Given the description of an element on the screen output the (x, y) to click on. 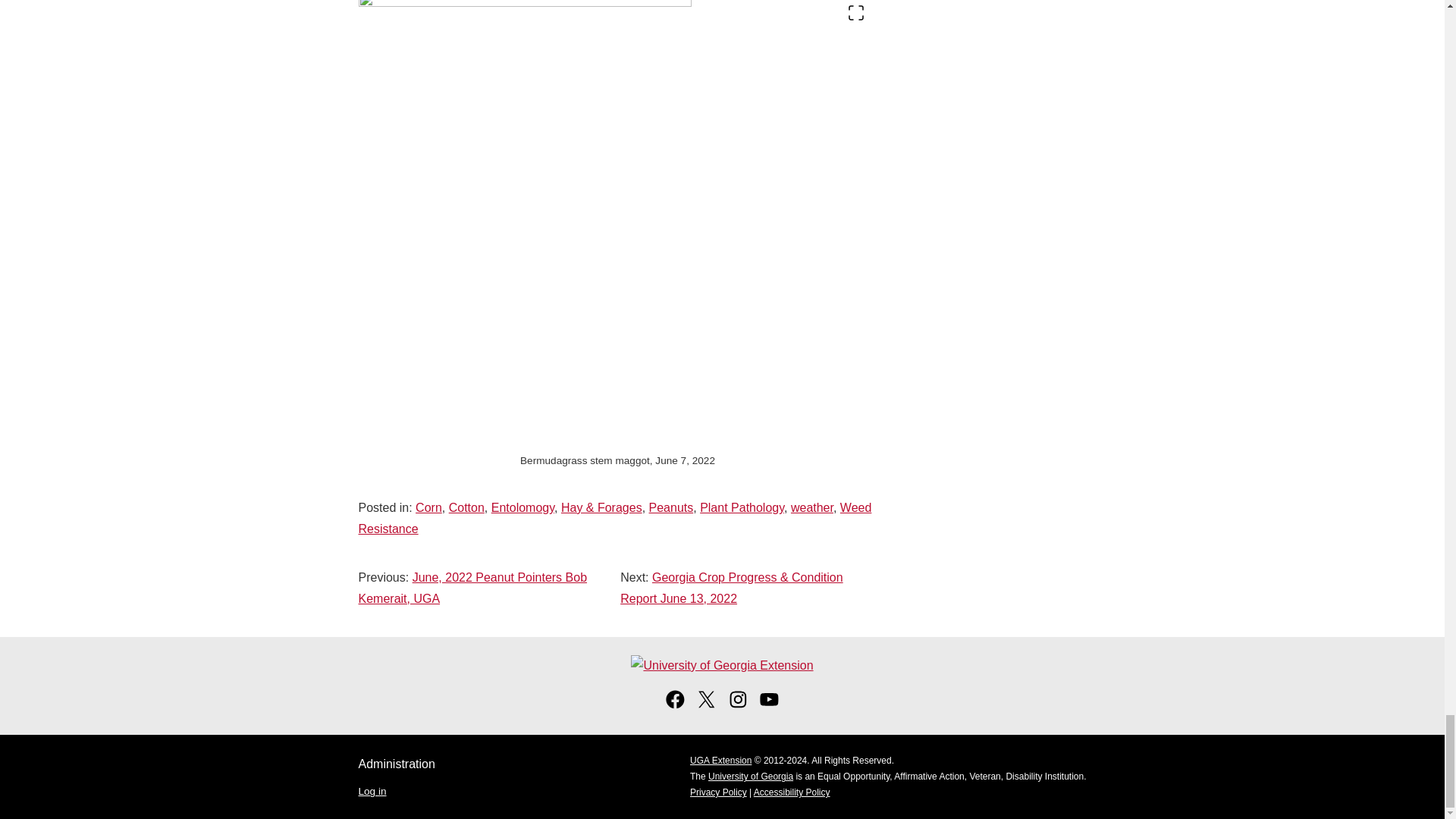
YouTube (769, 705)
weather (811, 507)
Peanuts (671, 507)
University of Georgia (750, 776)
June, 2022 Peanut Pointers Bob Kemerait, UGA (472, 587)
UGA Extension (720, 760)
Log in (371, 790)
Corn (428, 507)
Weed Resistance (614, 518)
Facebook (674, 705)
